Given the description of an element on the screen output the (x, y) to click on. 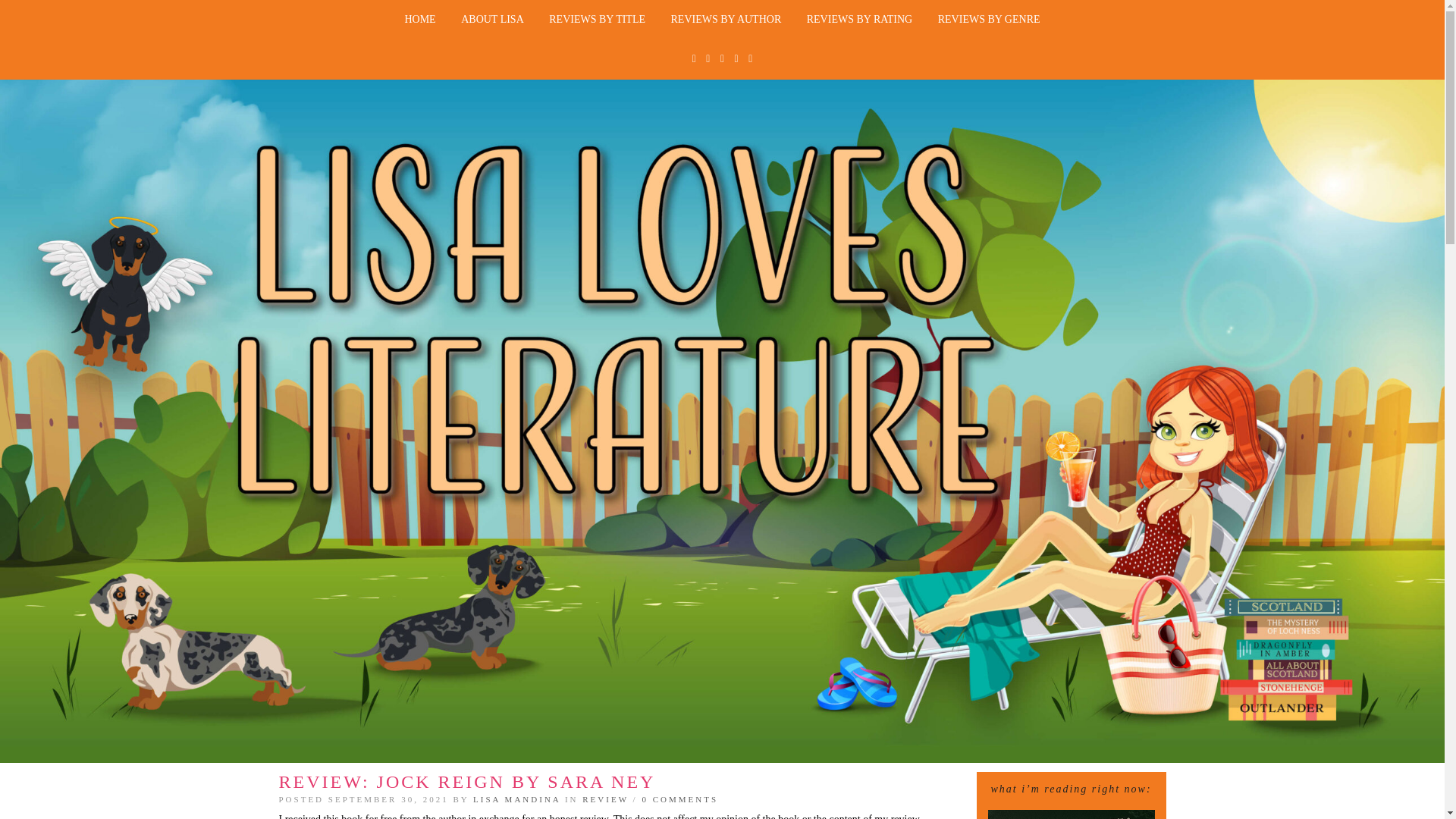
0 COMMENTS (679, 798)
View all posts in Review (605, 798)
ABOUT LISA (492, 19)
HOME (419, 19)
REVIEW (605, 798)
REVIEWS BY TITLE (596, 19)
LISA MANDINA (516, 798)
REVIEWS BY GENRE (988, 19)
REVIEWS BY RATING (858, 19)
REVIEWS BY AUTHOR (726, 19)
